Given the description of an element on the screen output the (x, y) to click on. 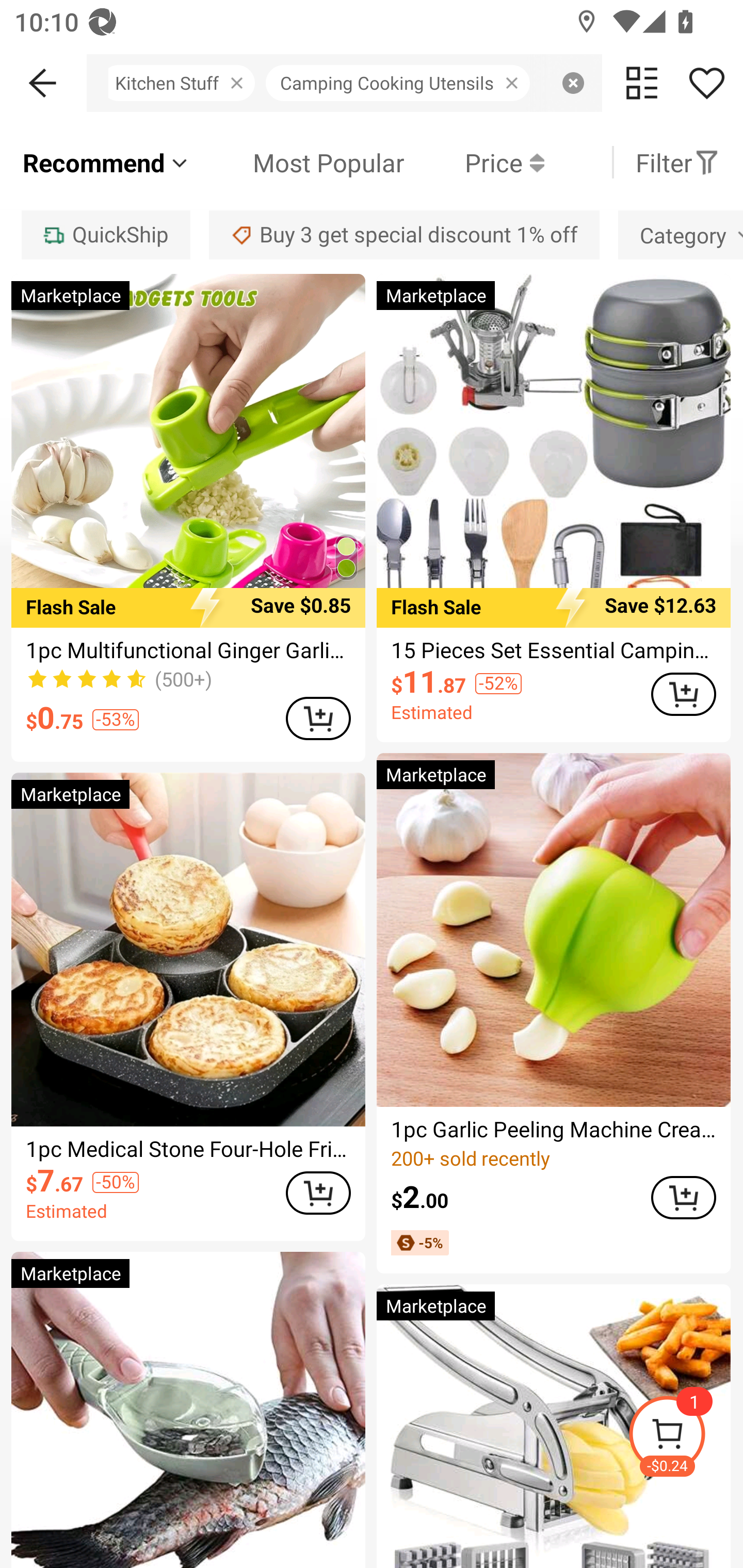
Kitchen Stuff (182, 82)
Camping Cooking Utensils (402, 82)
Clear (572, 82)
change view (641, 82)
Share (706, 82)
Recommend (106, 162)
Most Popular (297, 162)
Price (474, 162)
Filter (677, 162)
QuickShip (105, 234)
Buy 3 get special discount 1% off (403, 234)
Category (680, 234)
ADD TO CART (683, 694)
ADD TO CART (318, 718)
ADD TO CART (318, 1193)
ADD TO CART (683, 1197)
-$0.24 (685, 1436)
